Given the description of an element on the screen output the (x, y) to click on. 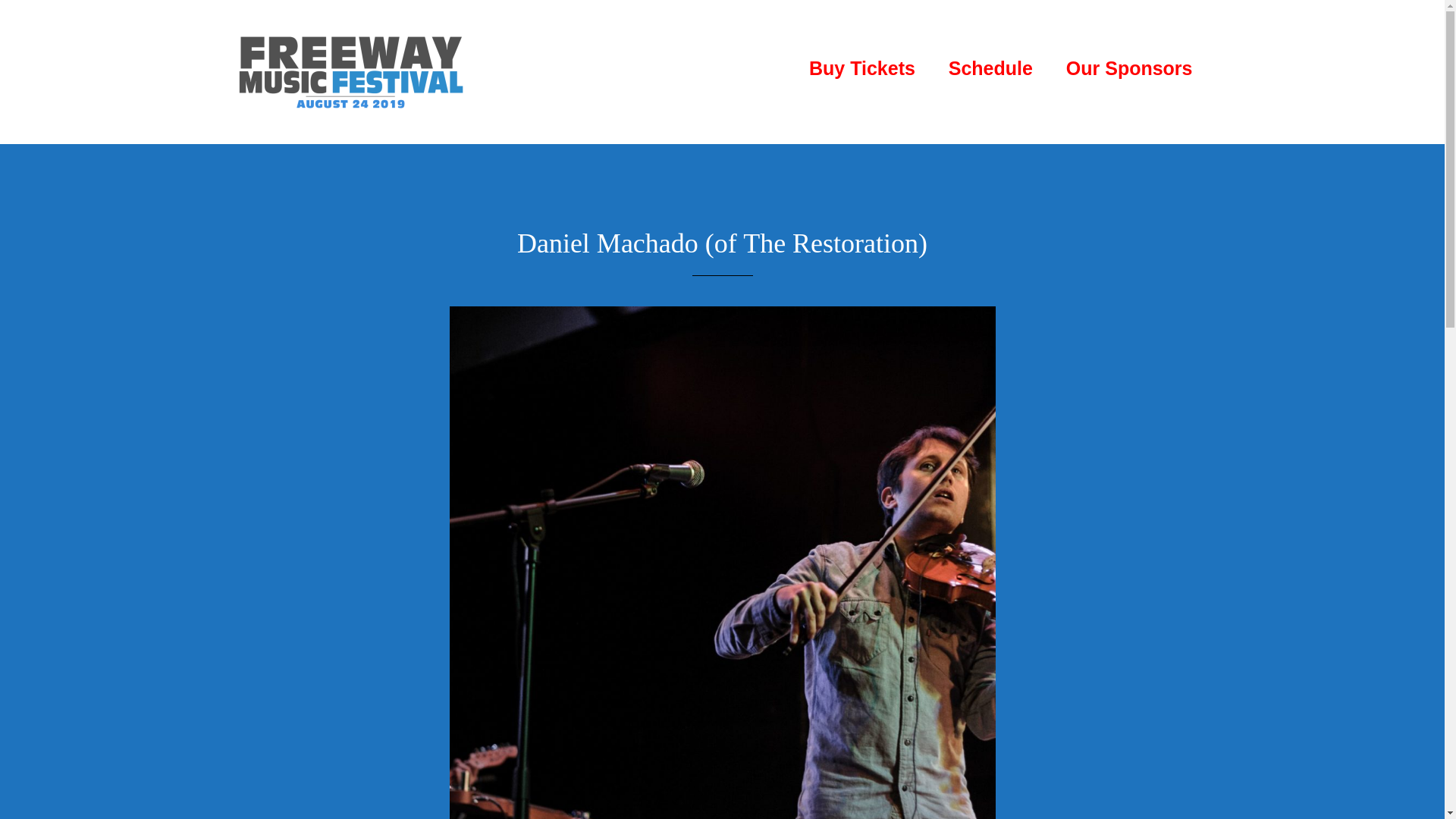
Our Sponsors (1129, 68)
Schedule (990, 68)
Buy Tickets (861, 68)
Freeway Music Festival (349, 71)
